Given the description of an element on the screen output the (x, y) to click on. 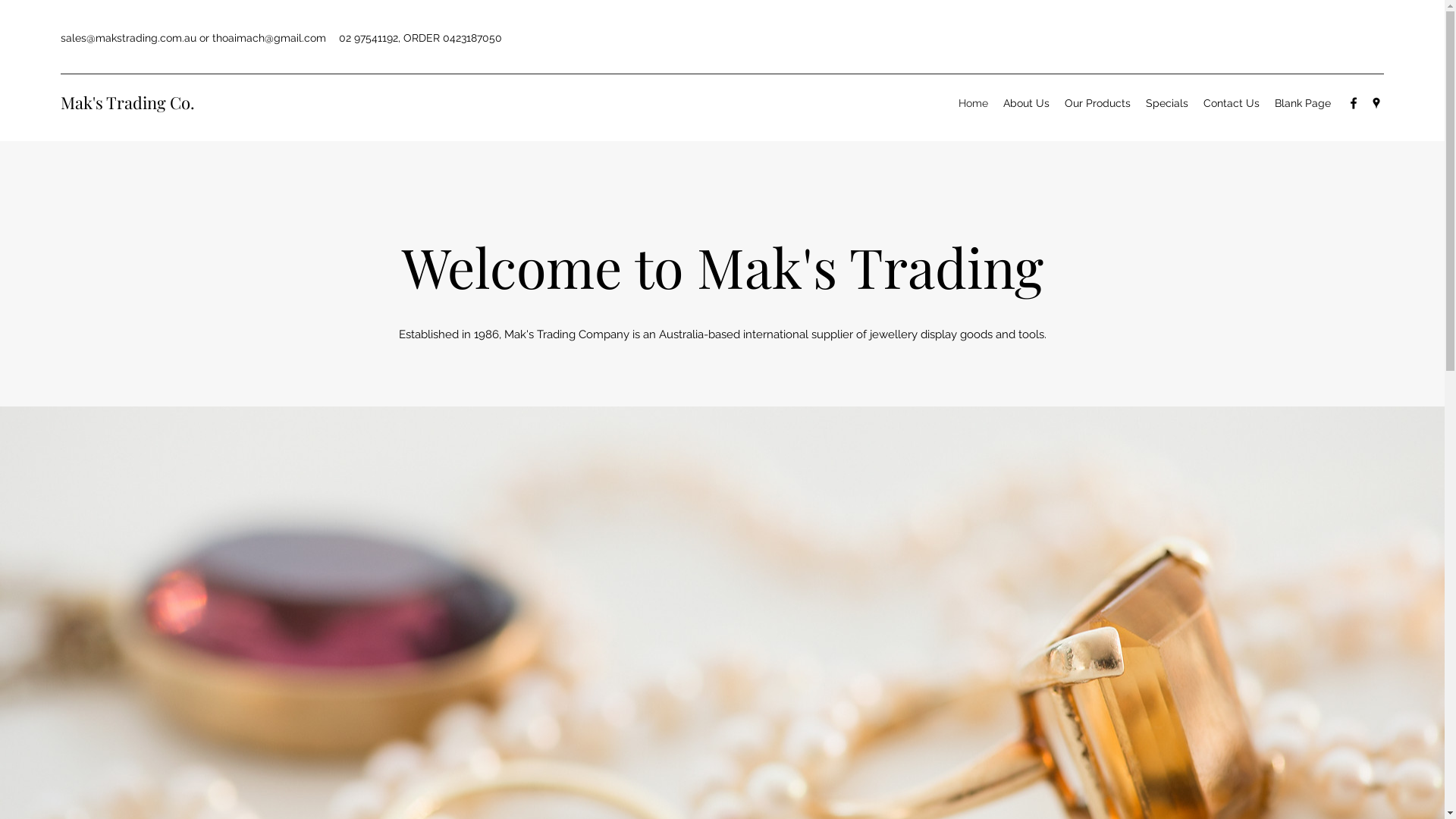
Our Products Element type: text (1097, 102)
Contact Us Element type: text (1231, 102)
Home Element type: text (972, 102)
About Us Element type: text (1026, 102)
Blank Page Element type: text (1302, 102)
Specials Element type: text (1166, 102)
thoaimach@gmail.com Element type: text (269, 37)
sales@makstrading.com.au Element type: text (128, 37)
